Given the description of an element on the screen output the (x, y) to click on. 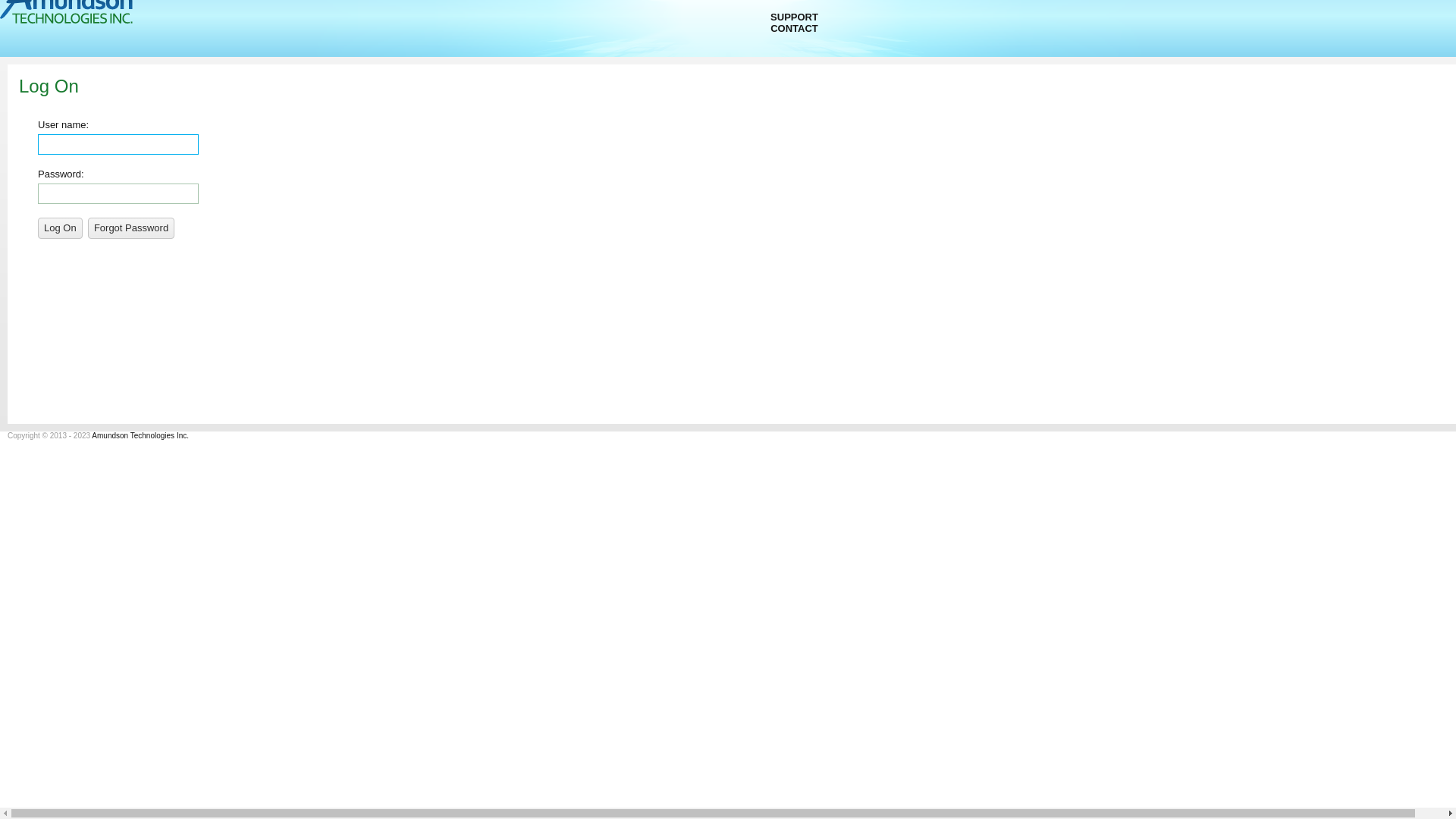
Log On Element type: text (59, 227)
CONTACT Element type: text (794, 28)
Amundson Technologies Inc. Element type: text (139, 435)
Forgot Password Element type: text (130, 227)
SUPPORT Element type: text (794, 16)
